Given the description of an element on the screen output the (x, y) to click on. 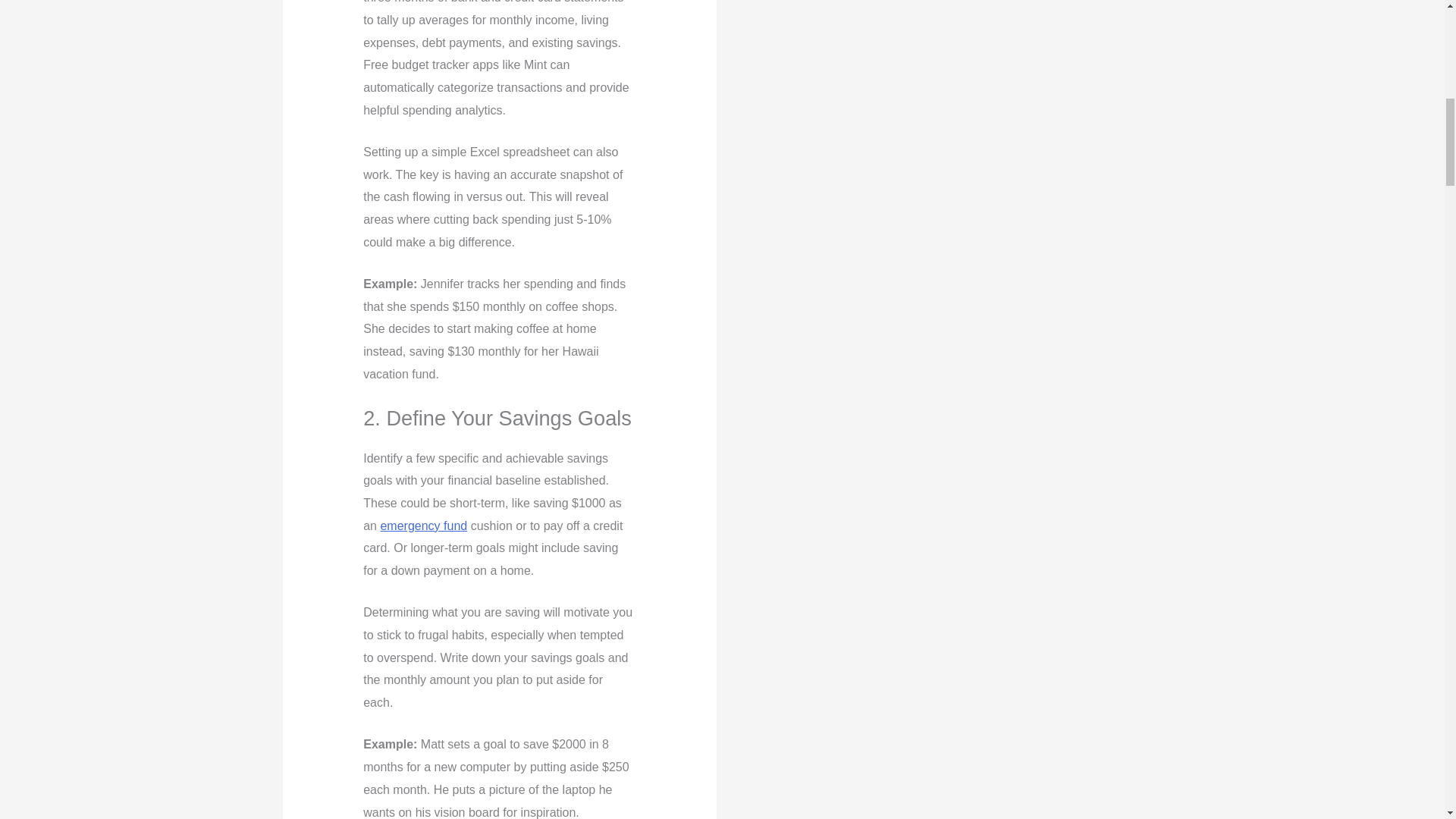
emergency fund (423, 525)
